Given the description of an element on the screen output the (x, y) to click on. 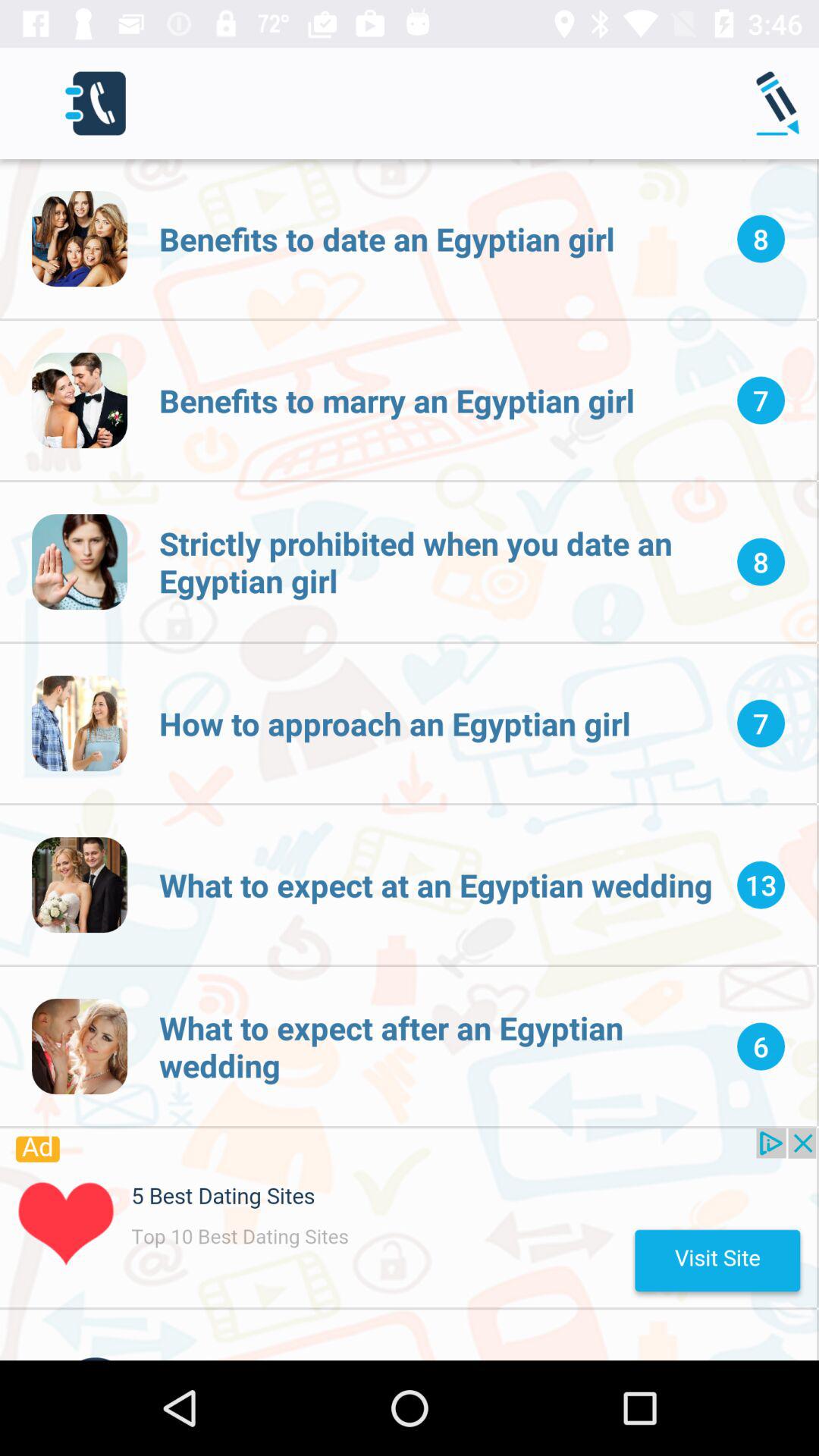
view site (408, 1217)
